Given the description of an element on the screen output the (x, y) to click on. 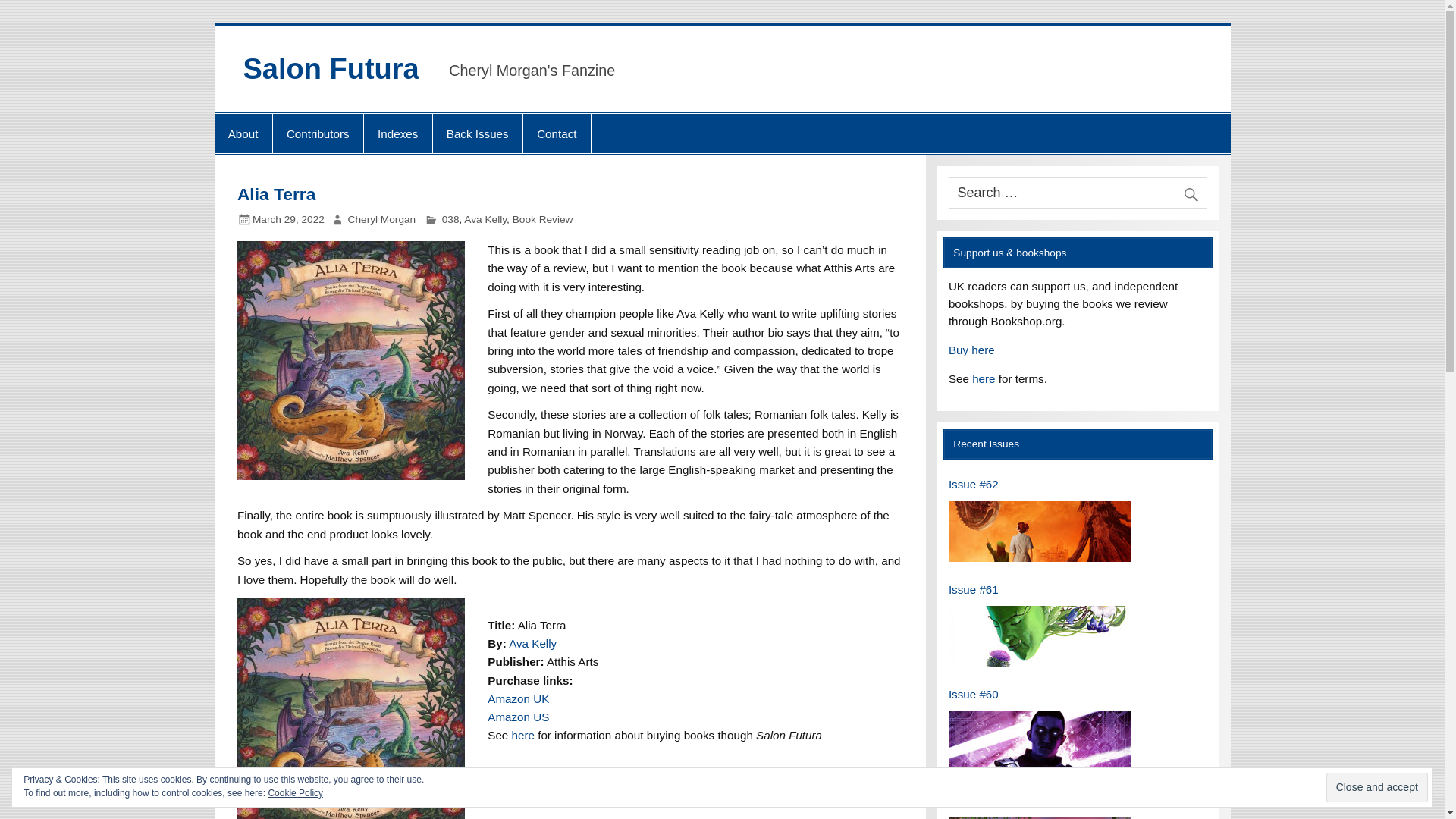
March 29, 2022 (287, 219)
Indexes (398, 133)
Salon Futura (331, 69)
Cheryl Morgan (381, 219)
038 (451, 219)
Book Review (542, 219)
Contributors (317, 133)
here (523, 735)
About (242, 133)
Buy here (971, 349)
